Given the description of an element on the screen output the (x, y) to click on. 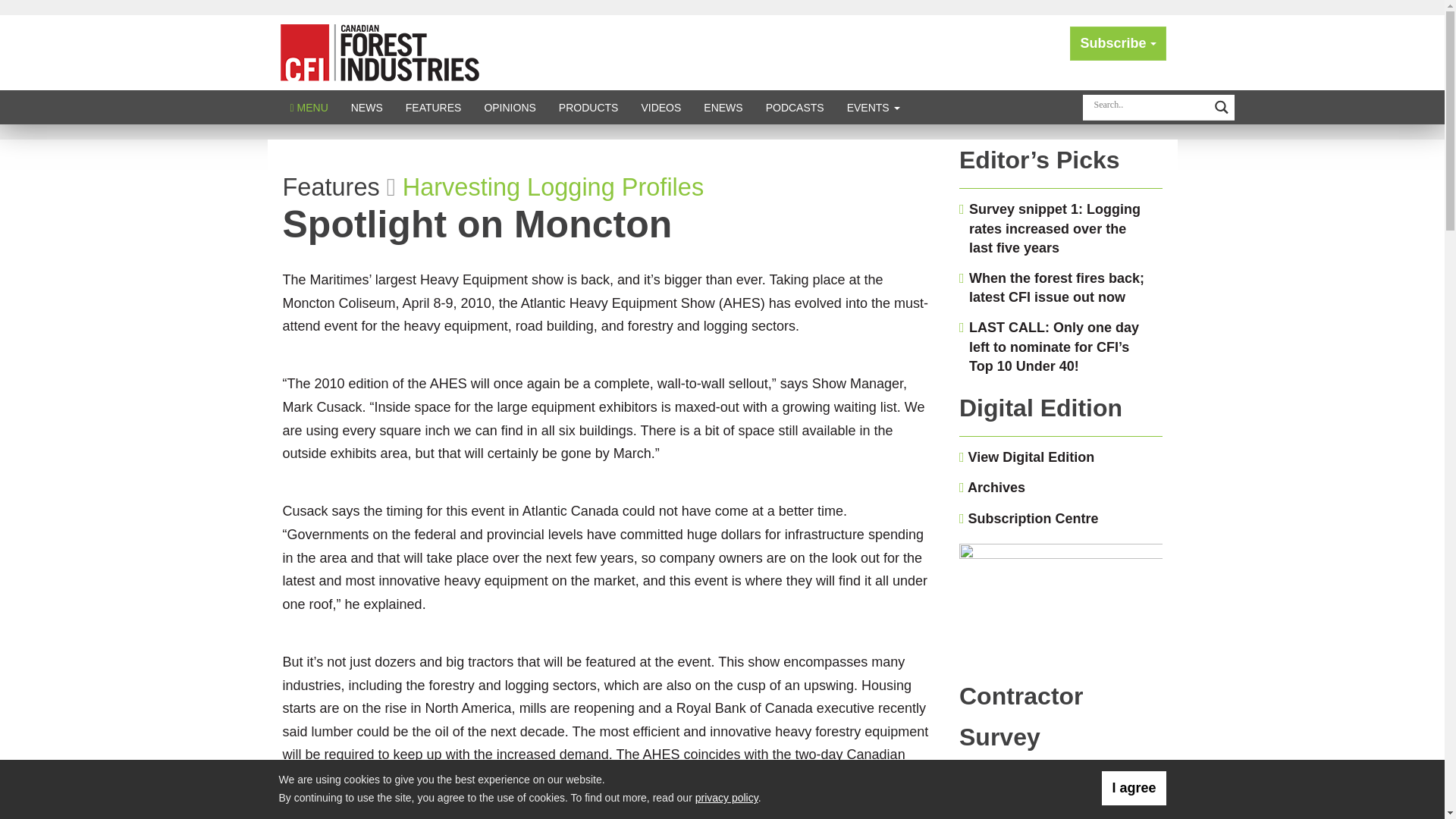
PODCASTS (794, 107)
Click to show site navigation (309, 107)
ENEWS (723, 107)
EVENTS (873, 107)
PRODUCTS (588, 107)
Wood Business (379, 51)
FEATURES (433, 107)
Subscribe (1118, 43)
OPINIONS (509, 107)
VIDEOS (660, 107)
